Given the description of an element on the screen output the (x, y) to click on. 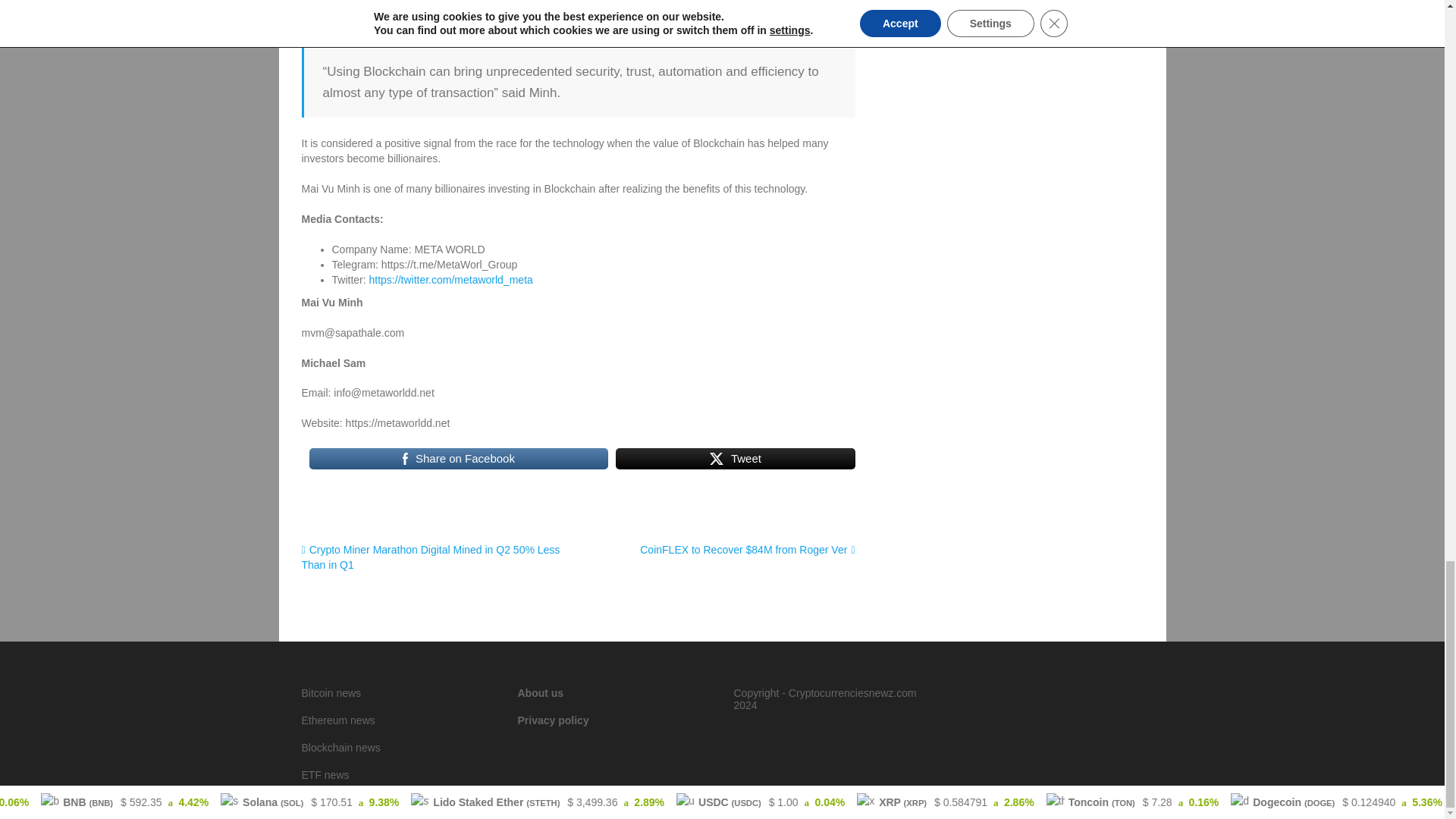
Share on Facebook (458, 458)
Tweet (734, 458)
